Given the description of an element on the screen output the (x, y) to click on. 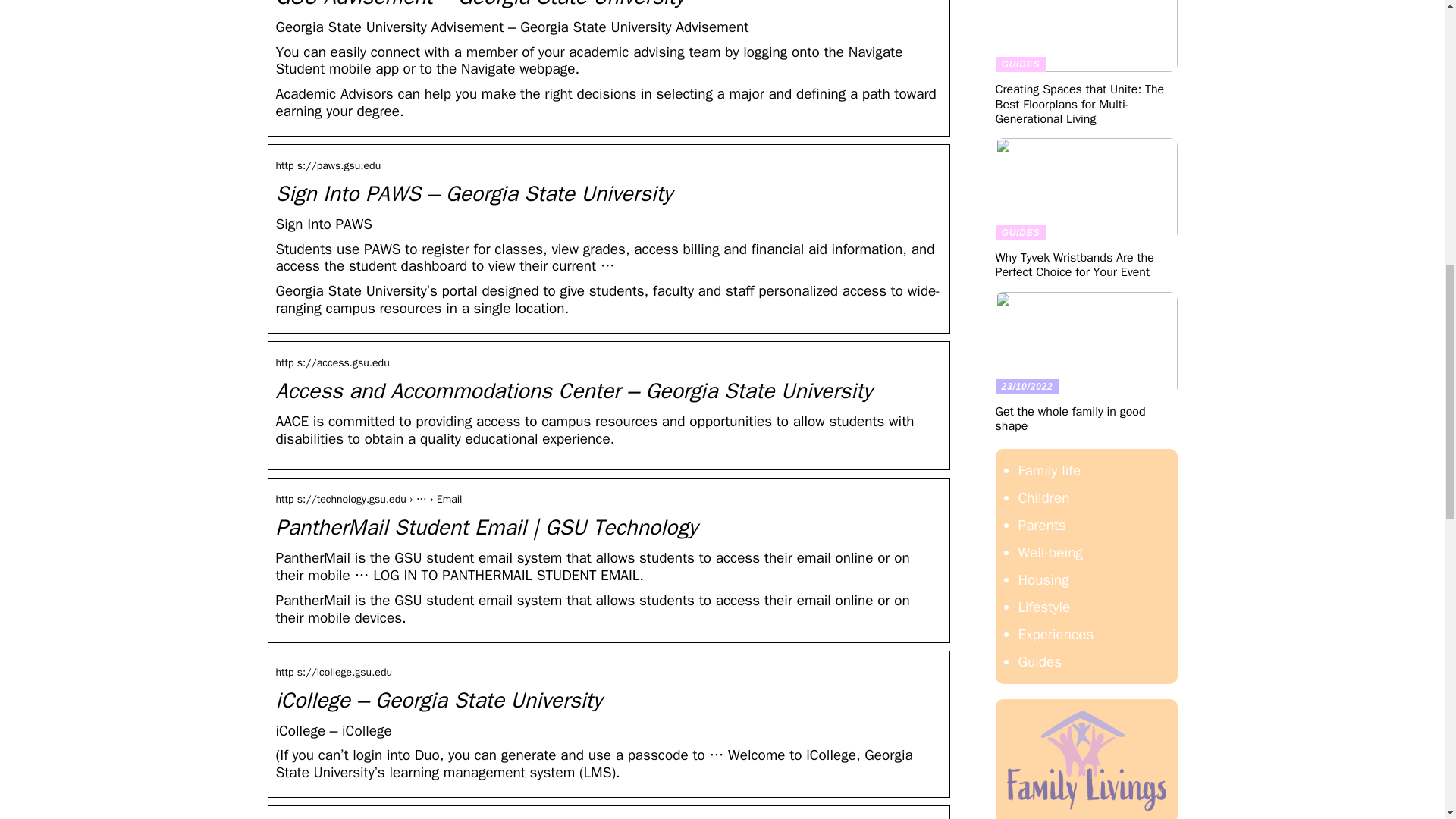
Experiences (1055, 634)
Lifestyle (1043, 607)
Family life (1048, 470)
Parents (1041, 525)
Children (1042, 497)
Guides (1039, 661)
Housing (1042, 579)
Well-being (1049, 552)
